Given the description of an element on the screen output the (x, y) to click on. 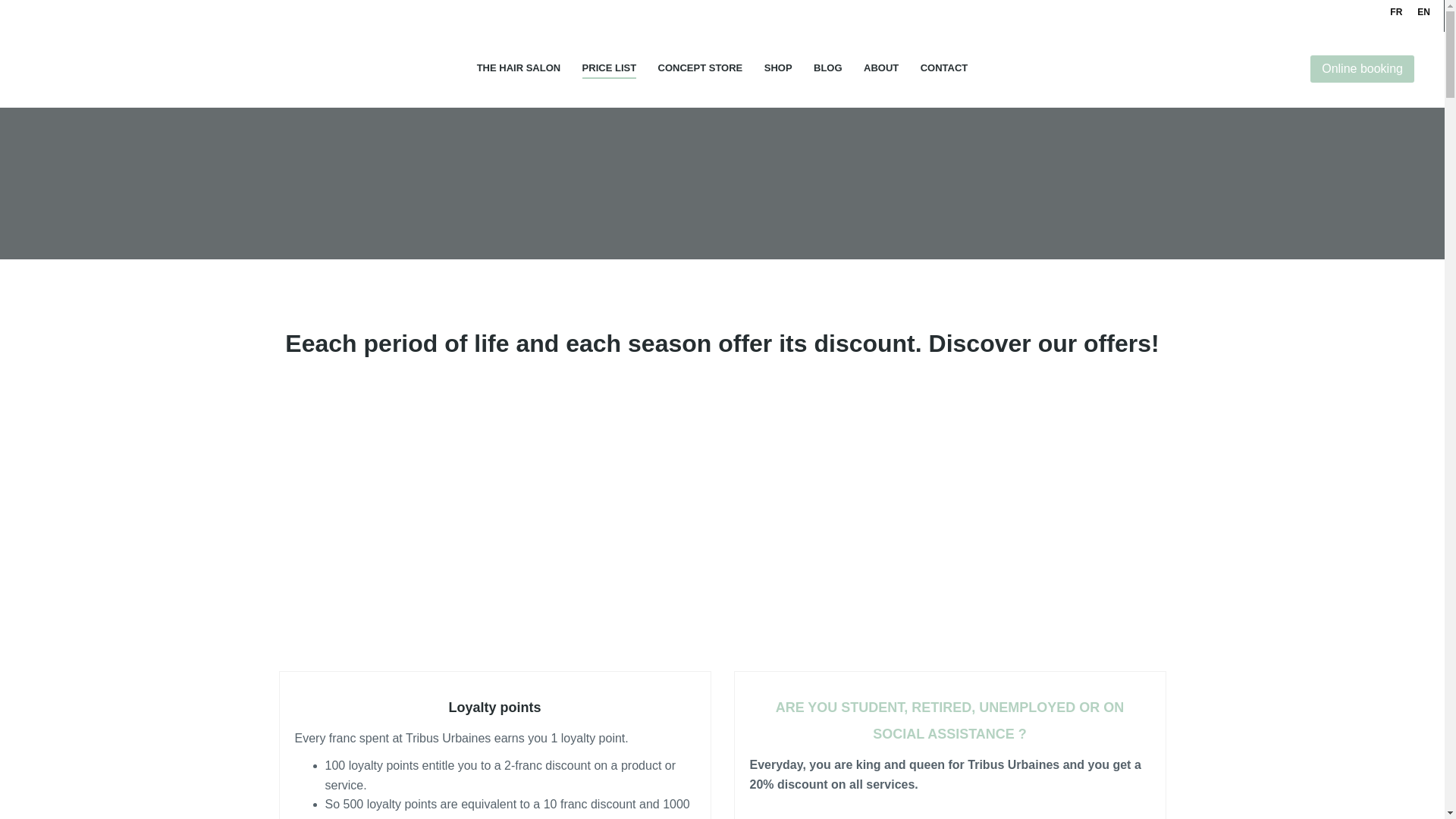
CONTACT (944, 67)
EN (1423, 12)
THE HAIR SALON (518, 67)
CONCEPT STORE (700, 67)
BLOG (828, 67)
SHOP (778, 67)
Online booking (1361, 68)
ABOUT (880, 67)
PRICE LIST (609, 67)
tribus-urbaines-enfants-coiffure (949, 526)
